Given the description of an element on the screen output the (x, y) to click on. 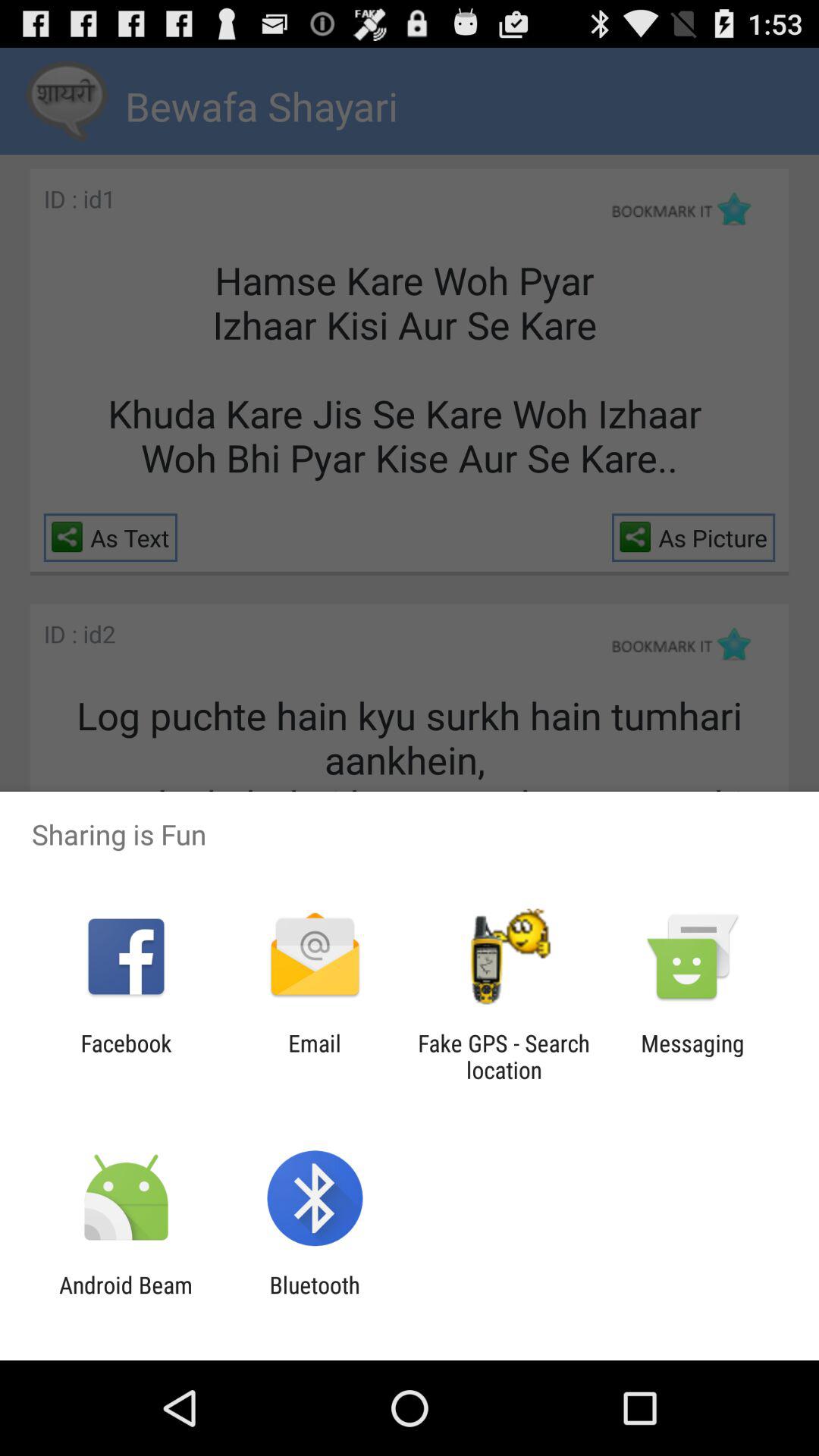
launch icon to the right of fake gps search icon (692, 1056)
